Given the description of an element on the screen output the (x, y) to click on. 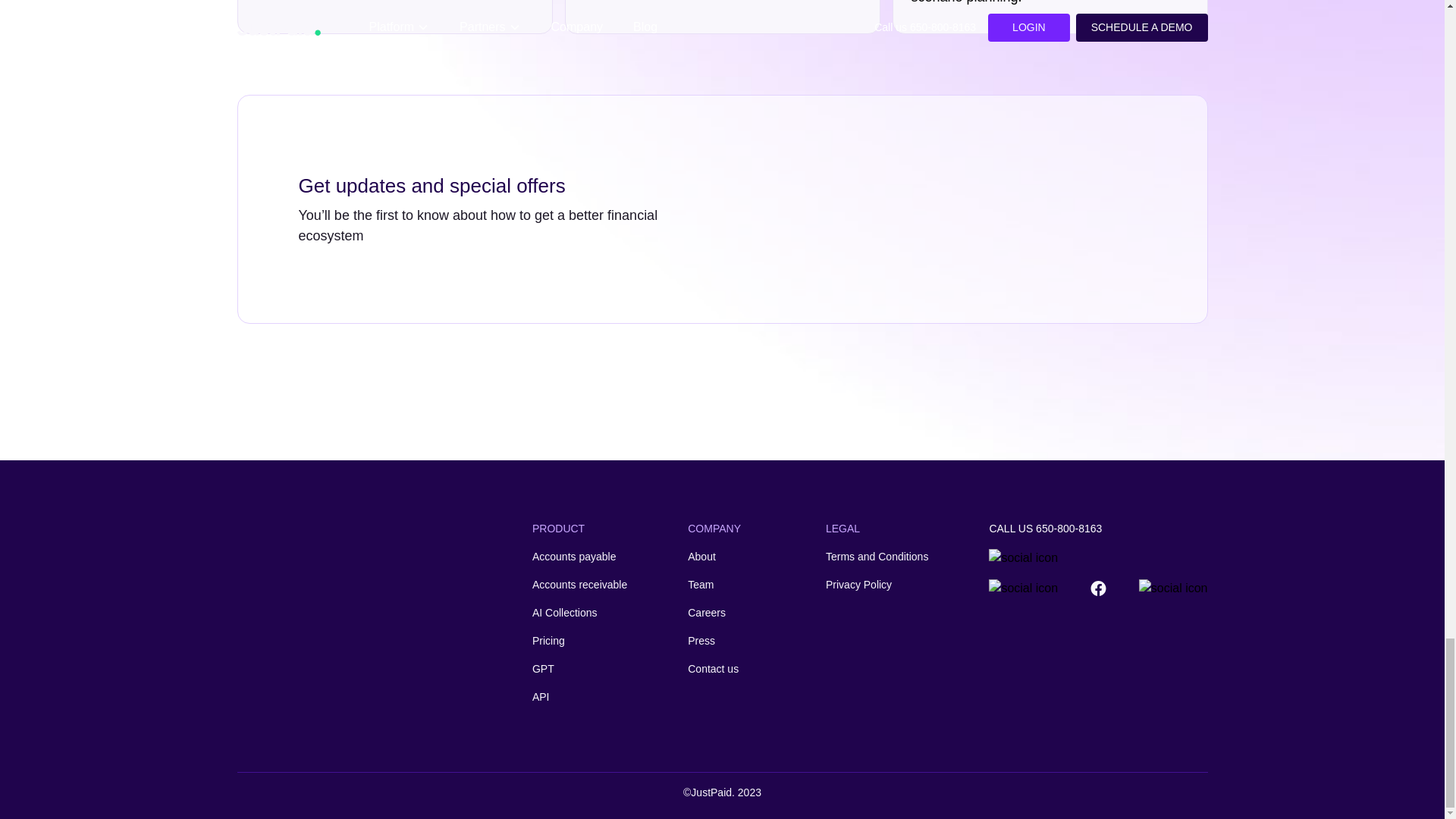
Contact us (714, 668)
GPT (579, 668)
AI Collections (579, 612)
Pricing (579, 641)
Form 0 (924, 213)
Careers (714, 612)
Accounts payable (579, 556)
Team (714, 584)
